Given the description of an element on the screen output the (x, y) to click on. 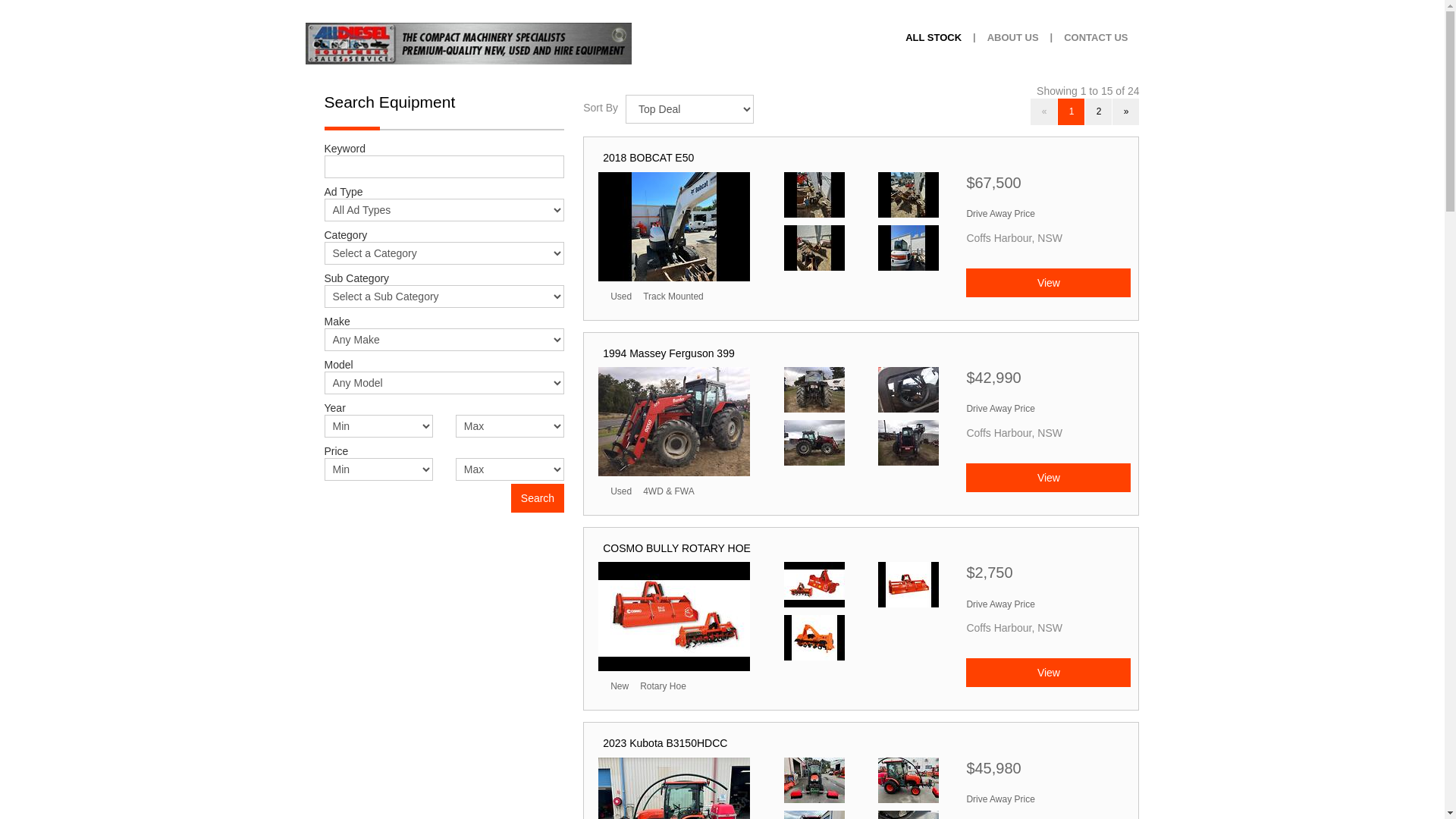
Drive Away Price Element type: text (1000, 798)
CONTACT US Element type: text (1095, 37)
View Element type: text (1048, 282)
$2,750 Element type: text (1048, 576)
Drive Away Price Element type: text (1000, 408)
ABOUT US Element type: text (1012, 37)
View Element type: text (1048, 477)
ALL STOCK Element type: text (933, 37)
All Diesel Equipment Sales and Service Element type: hover (467, 43)
Drive Away Price Element type: text (1000, 213)
2 Element type: text (1098, 111)
Search Element type: text (537, 497)
$67,500 Element type: text (1048, 186)
View Element type: text (1048, 672)
$42,990 Element type: text (1048, 381)
1 Element type: text (1070, 111)
Drive Away Price Element type: text (1000, 604)
$45,980 Element type: text (1048, 772)
